Given the description of an element on the screen output the (x, y) to click on. 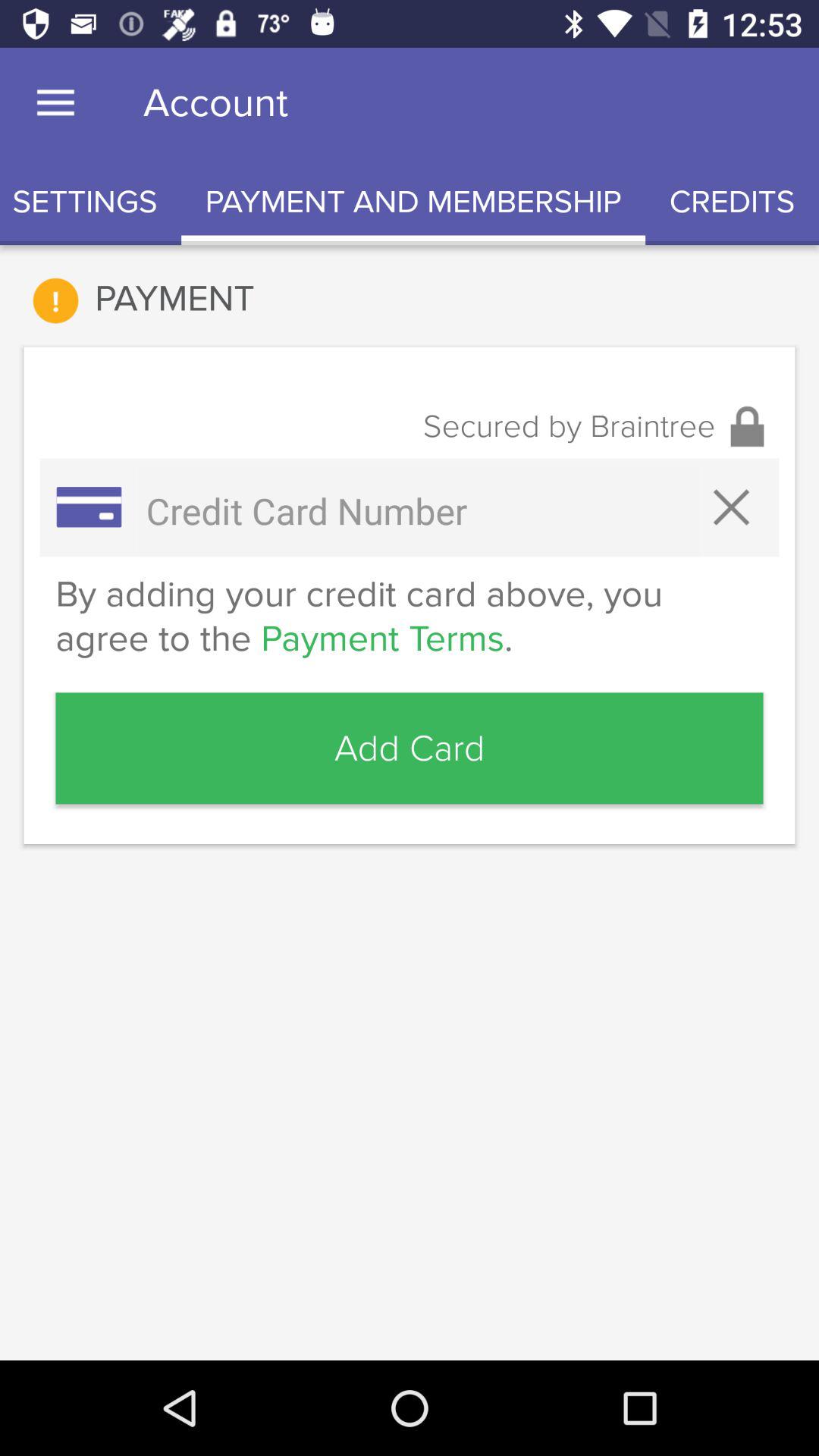
enter credit card number (418, 511)
